Given the description of an element on the screen output the (x, y) to click on. 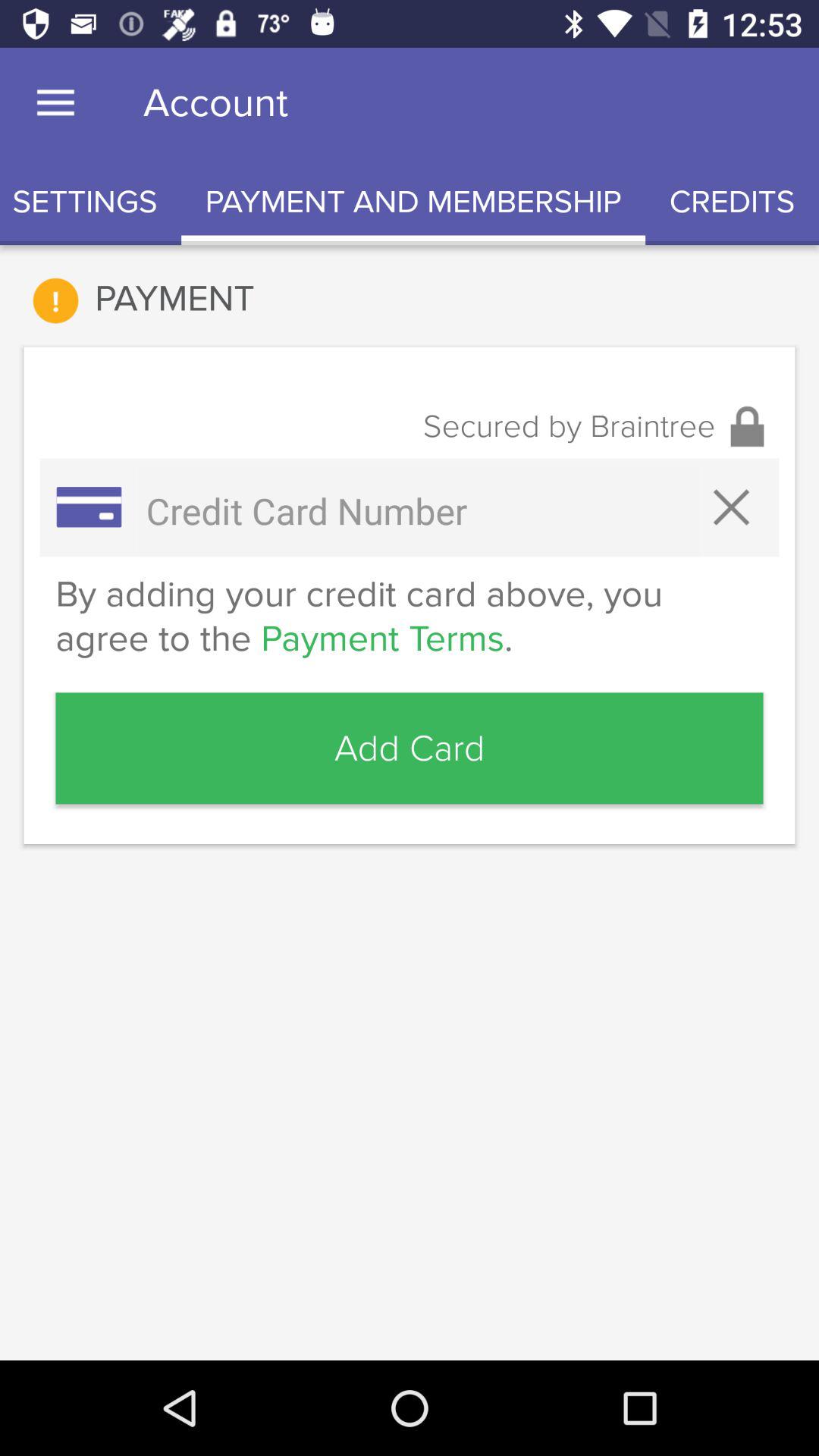
enter credit card number (418, 511)
